Given the description of an element on the screen output the (x, y) to click on. 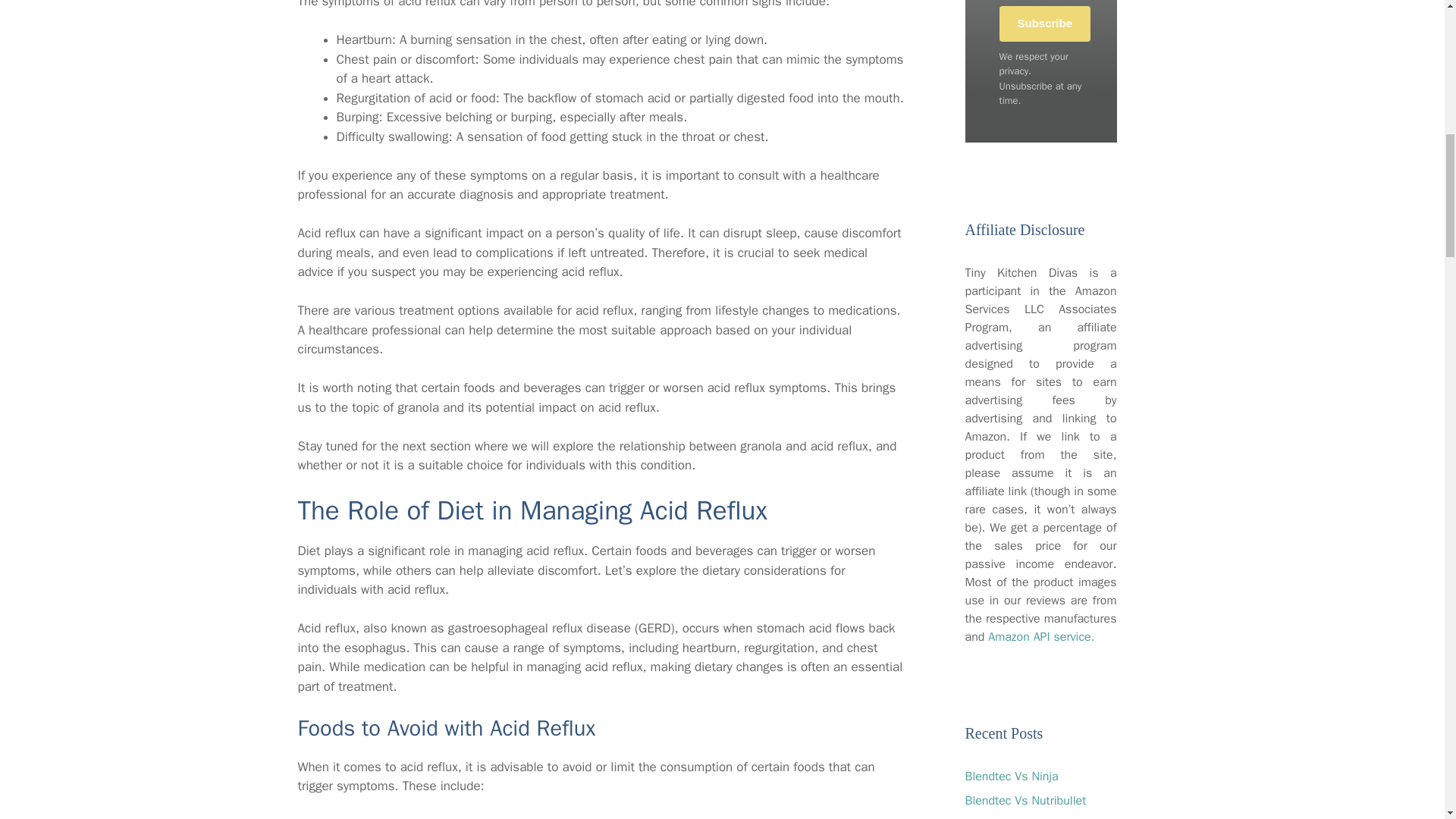
Subscribe (1044, 23)
Amazon API service. (1041, 636)
Blendtec Vs Nutribullet (1024, 800)
Blendtec Vs Ninja (1010, 776)
Scroll back to top (1406, 720)
